Given the description of an element on the screen output the (x, y) to click on. 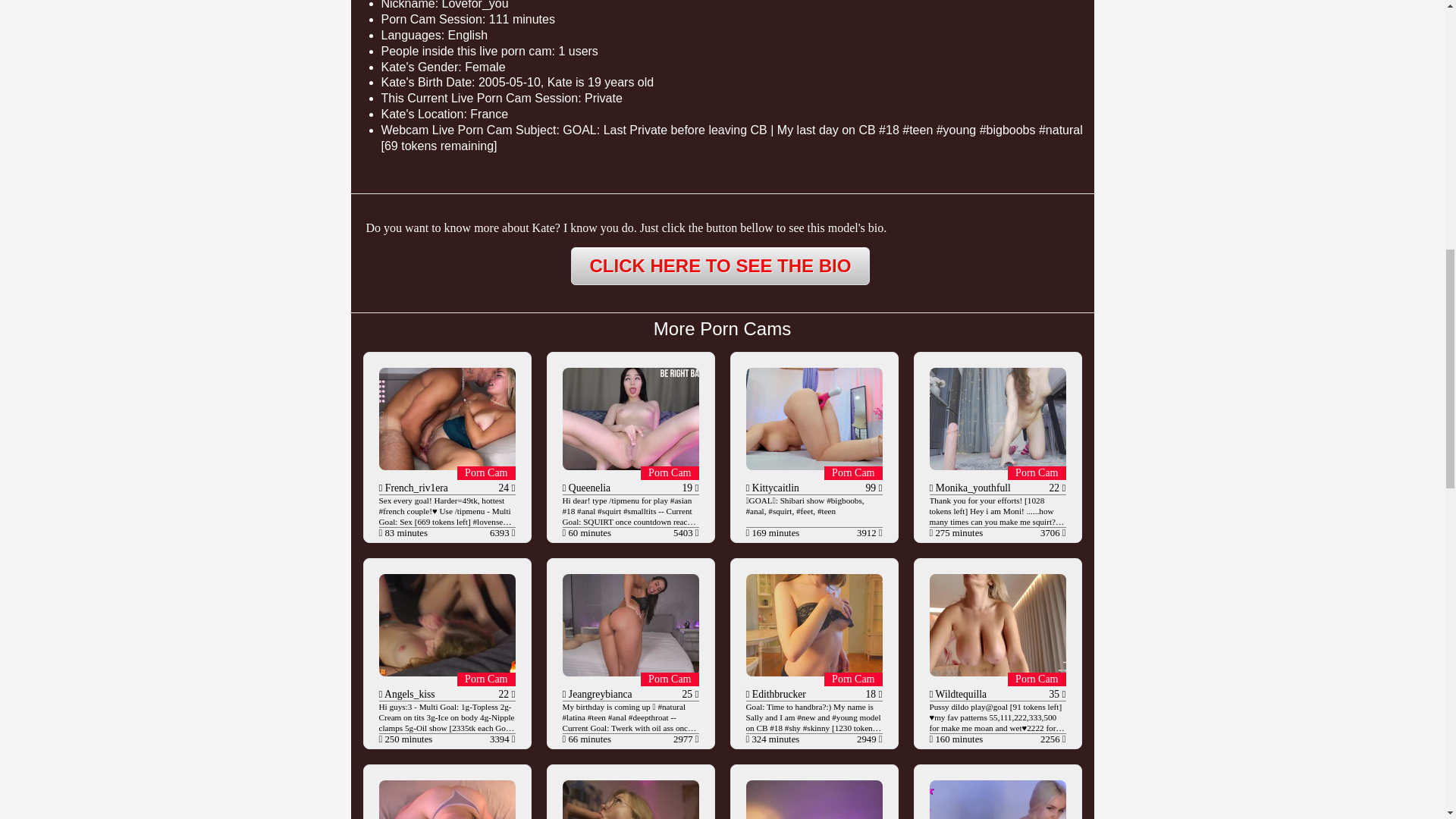
Edithbrucker (777, 694)
Queenelia (588, 487)
CLICK HERE TO SEE THE BIO (719, 266)
Kittycaitlin (773, 487)
Jeangreybianca (598, 694)
Wildtequilla (960, 694)
